Given the description of an element on the screen output the (x, y) to click on. 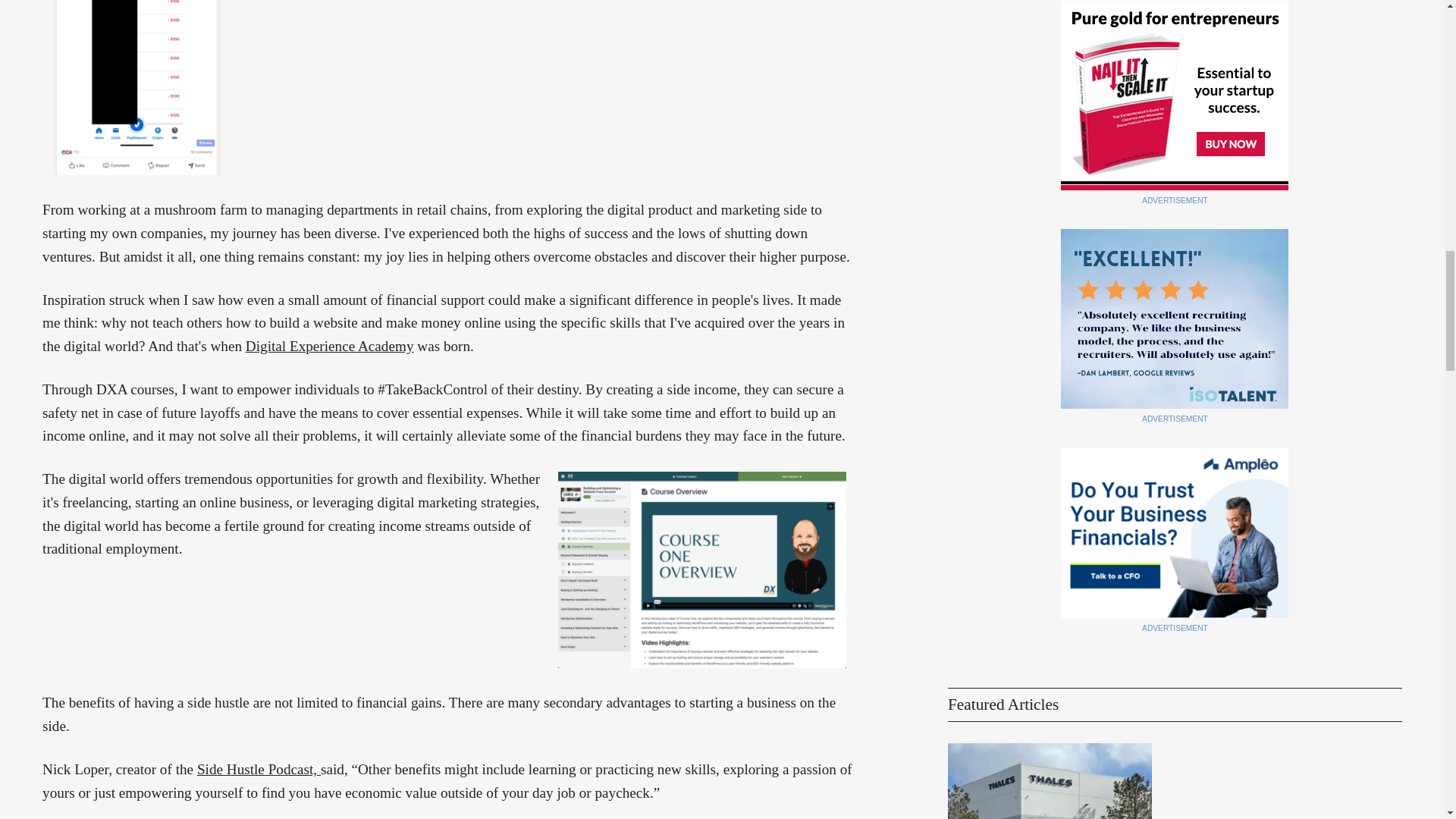
Side Hustle Podcast,  (258, 769)
Digital Experience Academy (329, 345)
